Given the description of an element on the screen output the (x, y) to click on. 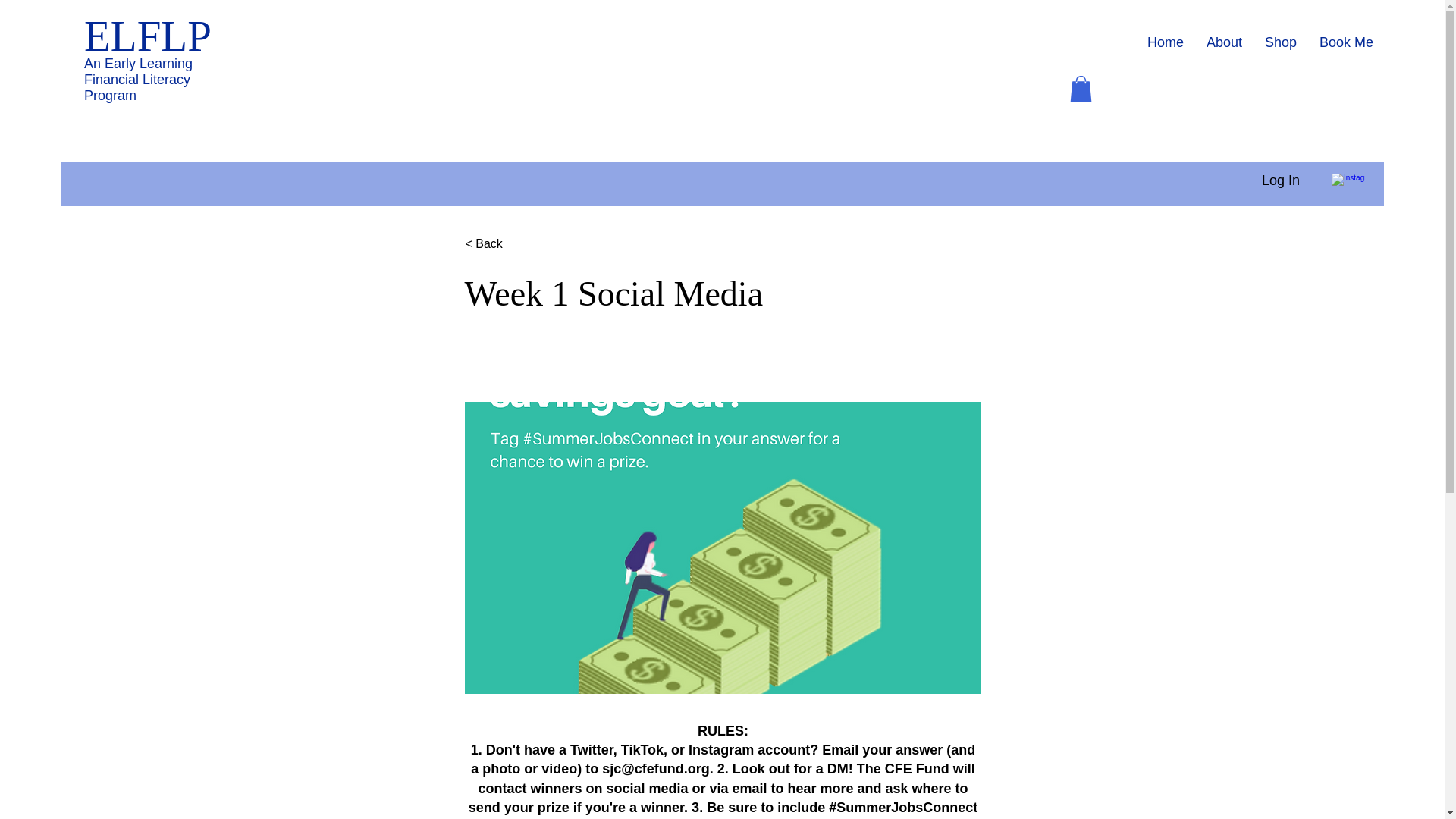
ELFLP (147, 35)
About (1224, 42)
Home (1165, 42)
Shop (1280, 42)
Book Me (1345, 42)
An Early Learning Financial Literacy Program (138, 79)
Log In (1280, 180)
